Given the description of an element on the screen output the (x, y) to click on. 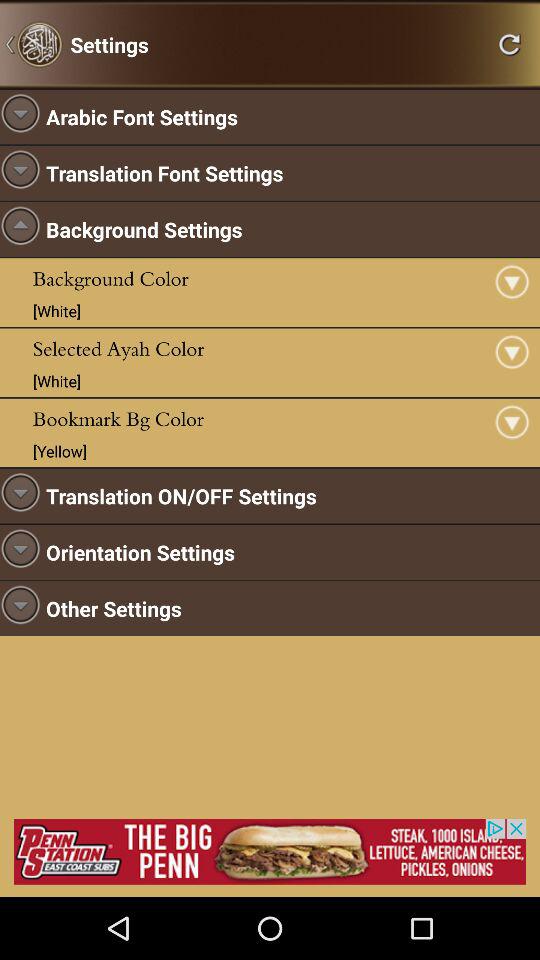
refresh (509, 44)
